Given the description of an element on the screen output the (x, y) to click on. 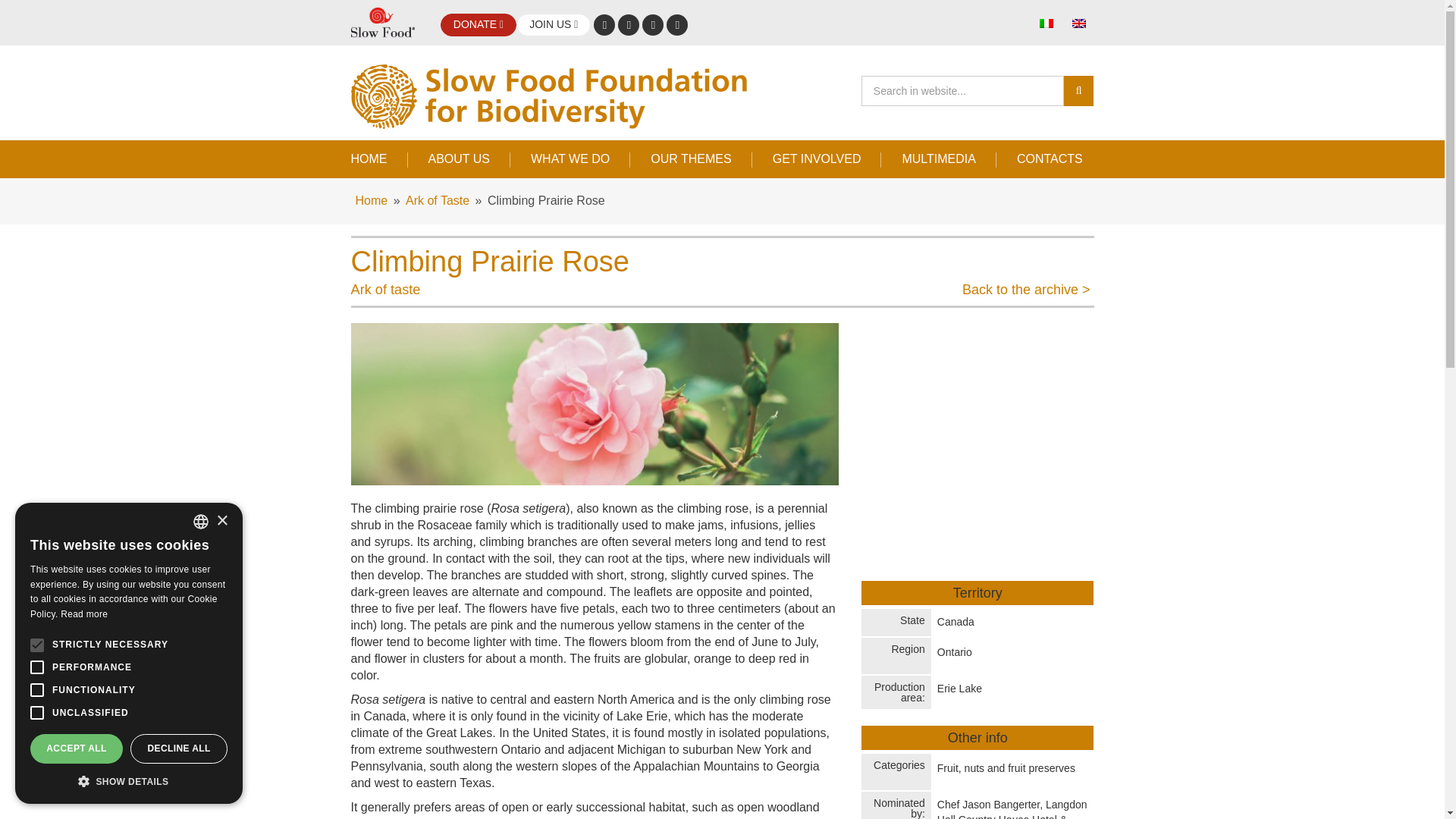
OUR THEMES (690, 158)
Slow Food Foundation (562, 96)
MULTIMEDIA (937, 158)
Climbing Prairie Rose (594, 403)
DONATE (477, 24)
WHAT WE DO (570, 158)
GET INVOLVED (817, 158)
Slow Food (382, 22)
ABOUT US (459, 158)
JOIN US (553, 24)
HOME (378, 158)
